Given the description of an element on the screen output the (x, y) to click on. 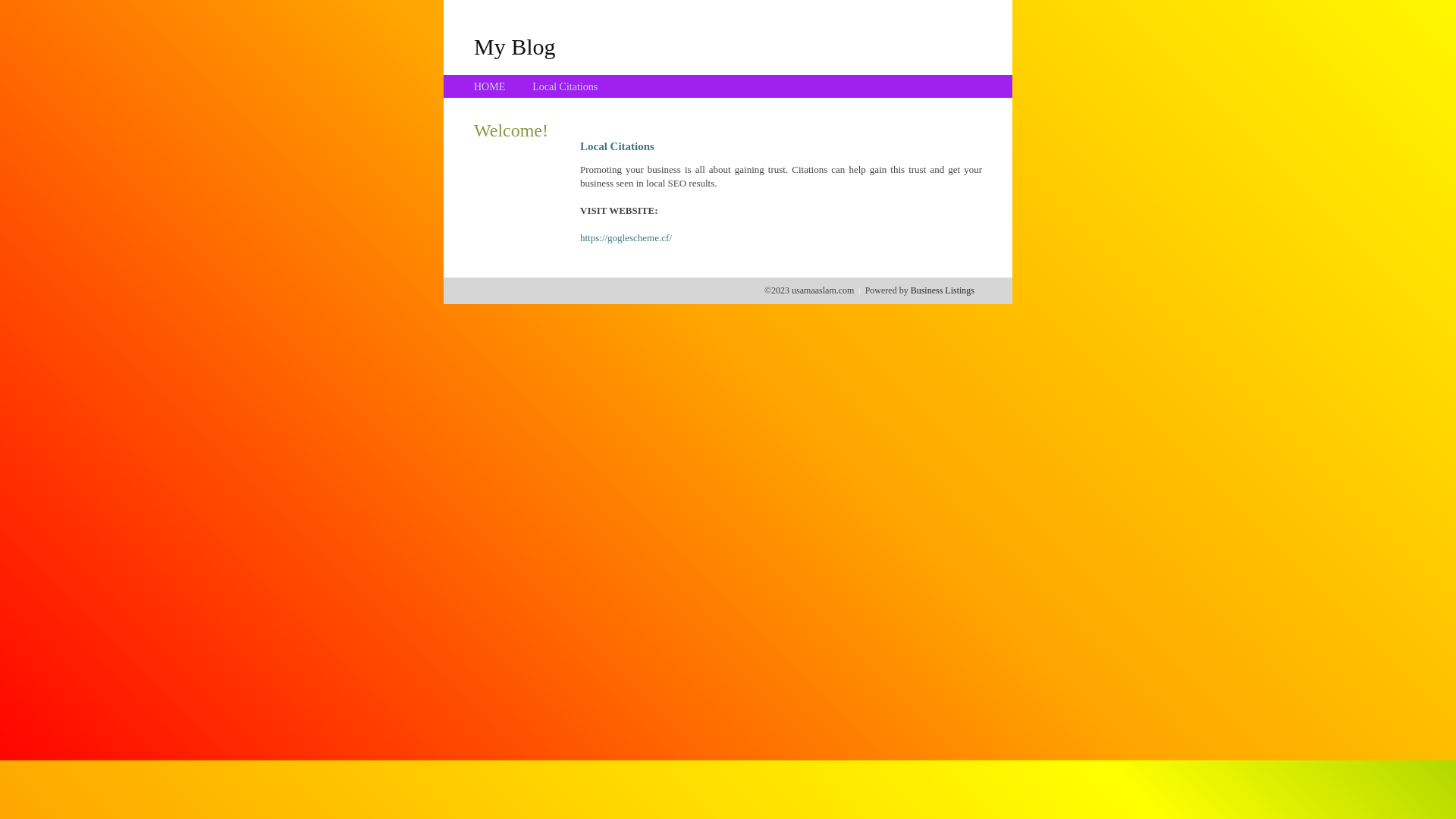
My Blog Element type: text (514, 46)
HOME Element type: text (489, 86)
https://goglescheme.cf/ Element type: text (625, 237)
Business Listings Element type: text (942, 290)
Local Citations Element type: text (564, 86)
